Given the description of an element on the screen output the (x, y) to click on. 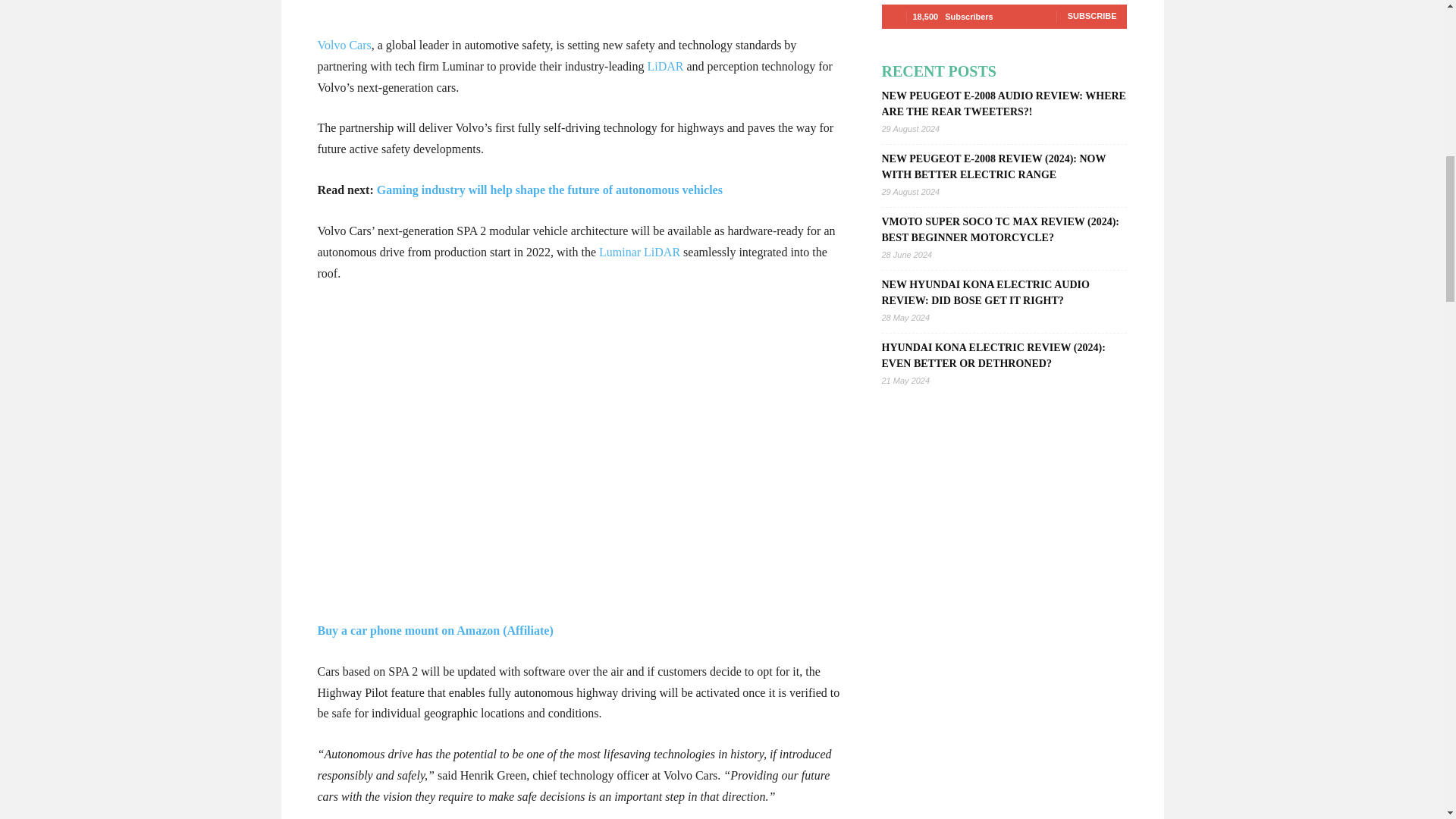
LiDAR (665, 65)
Luminar LiDAR (637, 251)
Volvo Cars (344, 44)
